Given the description of an element on the screen output the (x, y) to click on. 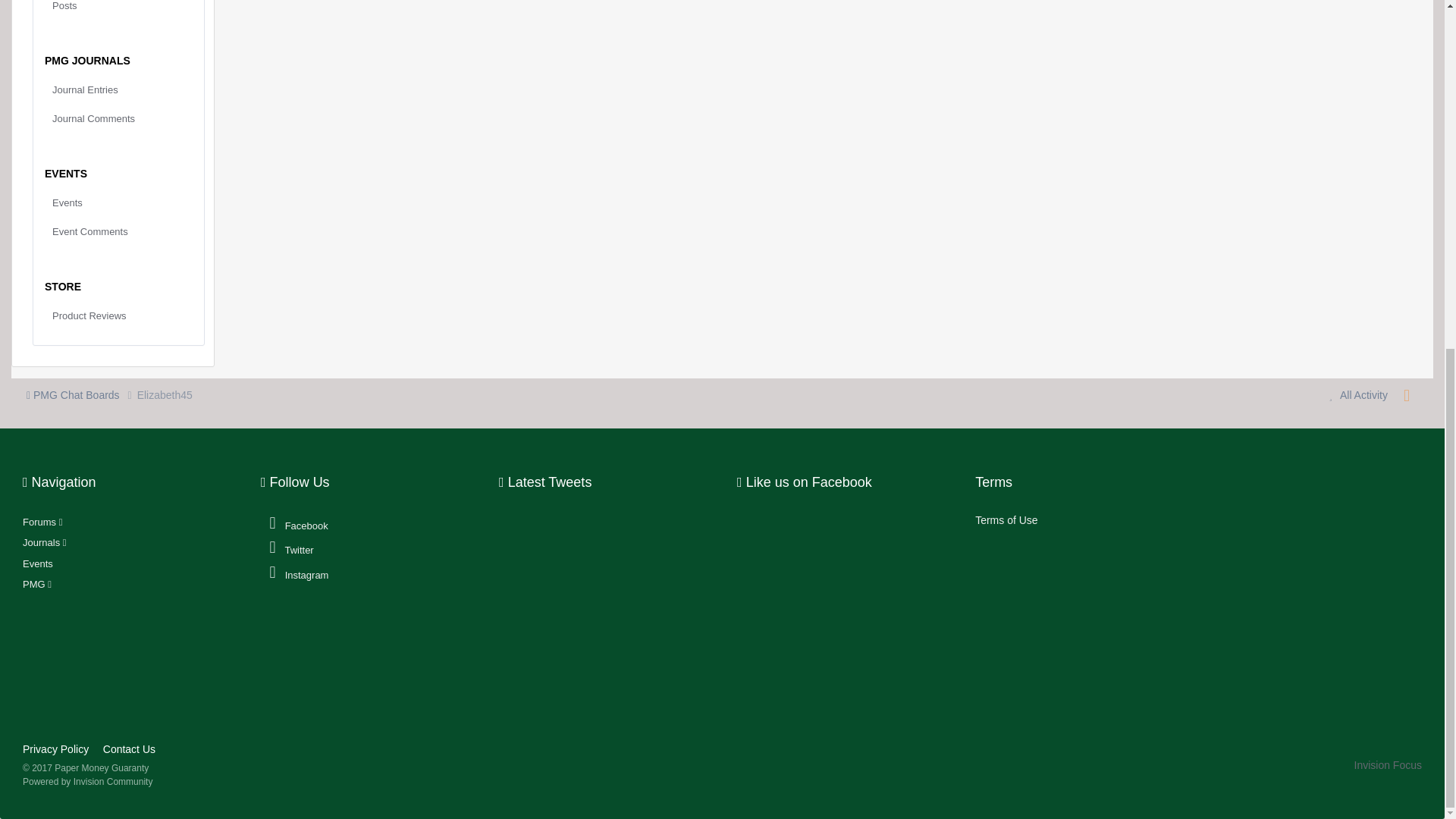
Available RSS feeds (1406, 395)
Facebook (295, 524)
Instagram (295, 573)
Twitter (287, 547)
PMG Chat Boards (81, 395)
Invision Community (87, 781)
Journal Comments (118, 118)
Posts (118, 9)
Journal Entries (118, 90)
